Given the description of an element on the screen output the (x, y) to click on. 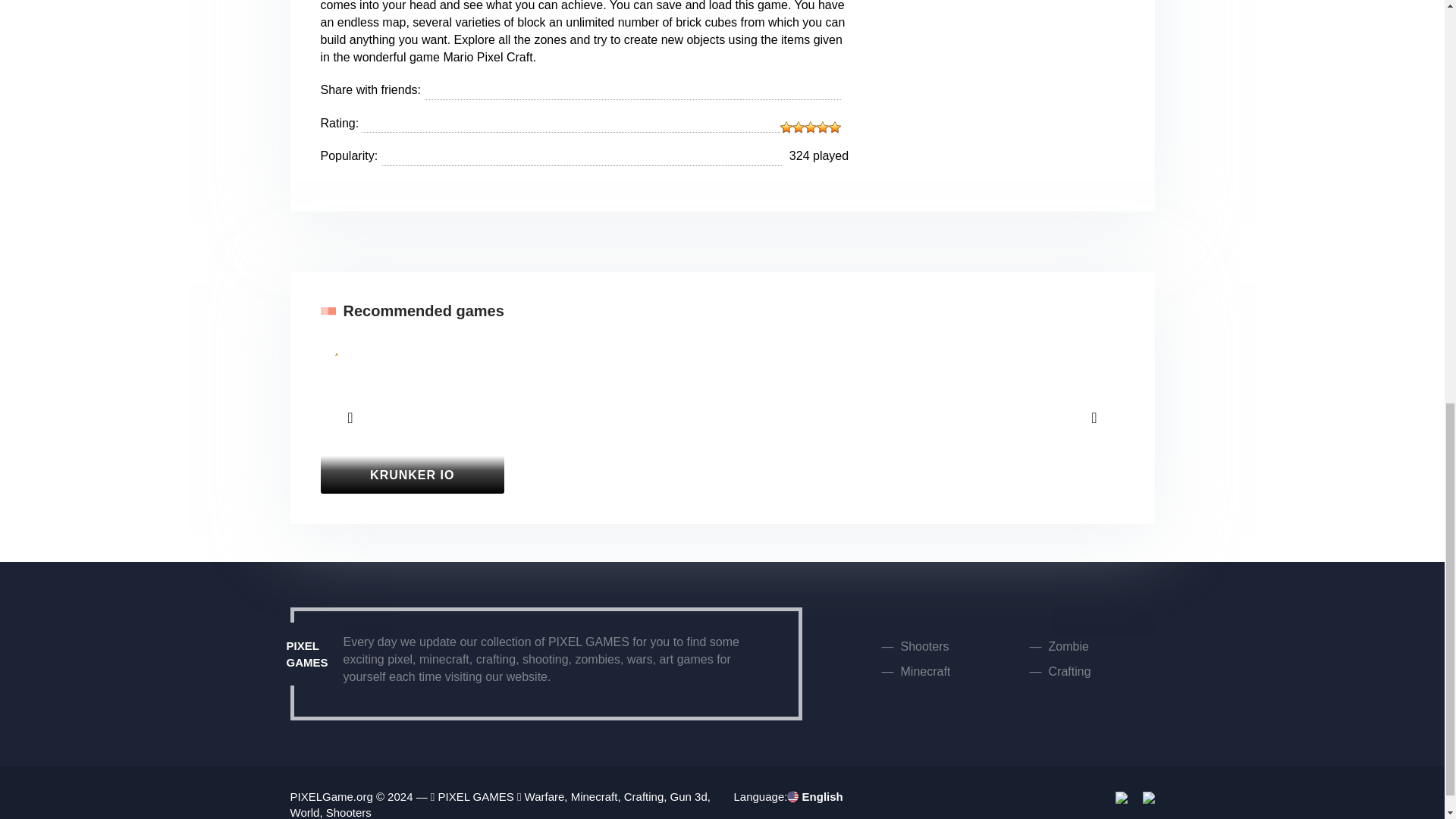
2 Stars (798, 127)
5 Stars (336, 408)
Crafting (1069, 671)
5 Stars (834, 127)
Minecraft (925, 671)
1 Star (786, 127)
4 Stars (336, 395)
Shooters (925, 645)
4 Stars (822, 127)
3 Stars (810, 127)
